Given the description of an element on the screen output the (x, y) to click on. 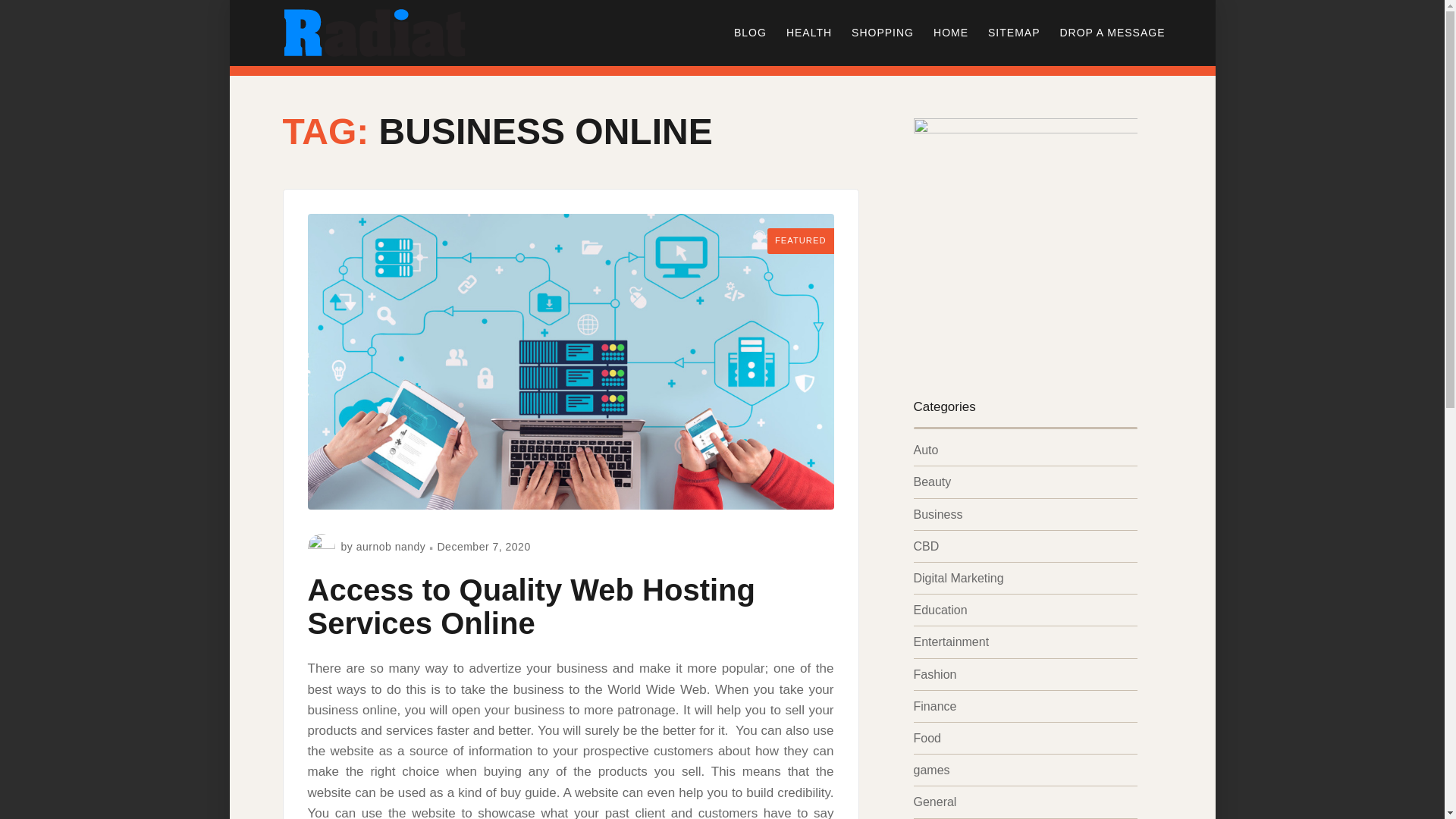
Auto (924, 449)
Beauty (931, 481)
Access to Quality Web Hosting Services Online (531, 606)
aurnob nandy (391, 546)
December 7, 2020 (482, 546)
HOME (950, 32)
Business (937, 513)
Finance (934, 706)
CBD (925, 545)
HEALTH (808, 32)
BLOG (749, 32)
DROP A MESSAGE (1111, 32)
Entertainment (950, 641)
Fashion (934, 674)
Education (939, 609)
